Given the description of an element on the screen output the (x, y) to click on. 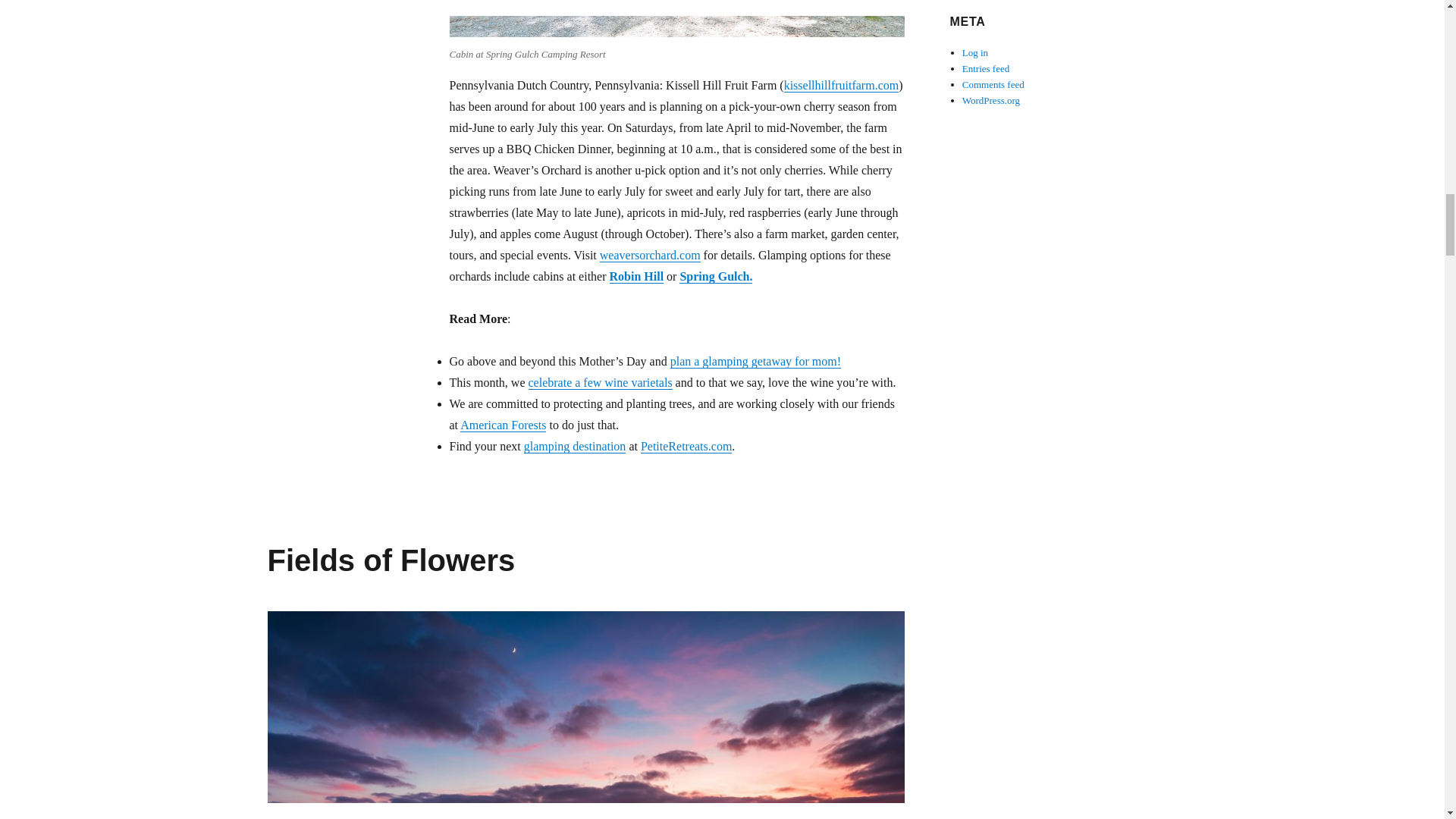
Robin Hill (636, 276)
glamping destination (575, 445)
plan a glamping getaway for mom! (755, 360)
kissellhillfruitfarm.com (841, 84)
PetiteRetreats.com (686, 445)
weaversorchard.com (649, 254)
celebrate a few wine varietals (599, 382)
American Forests (503, 424)
Spring Gulch. (715, 276)
